Given the description of an element on the screen output the (x, y) to click on. 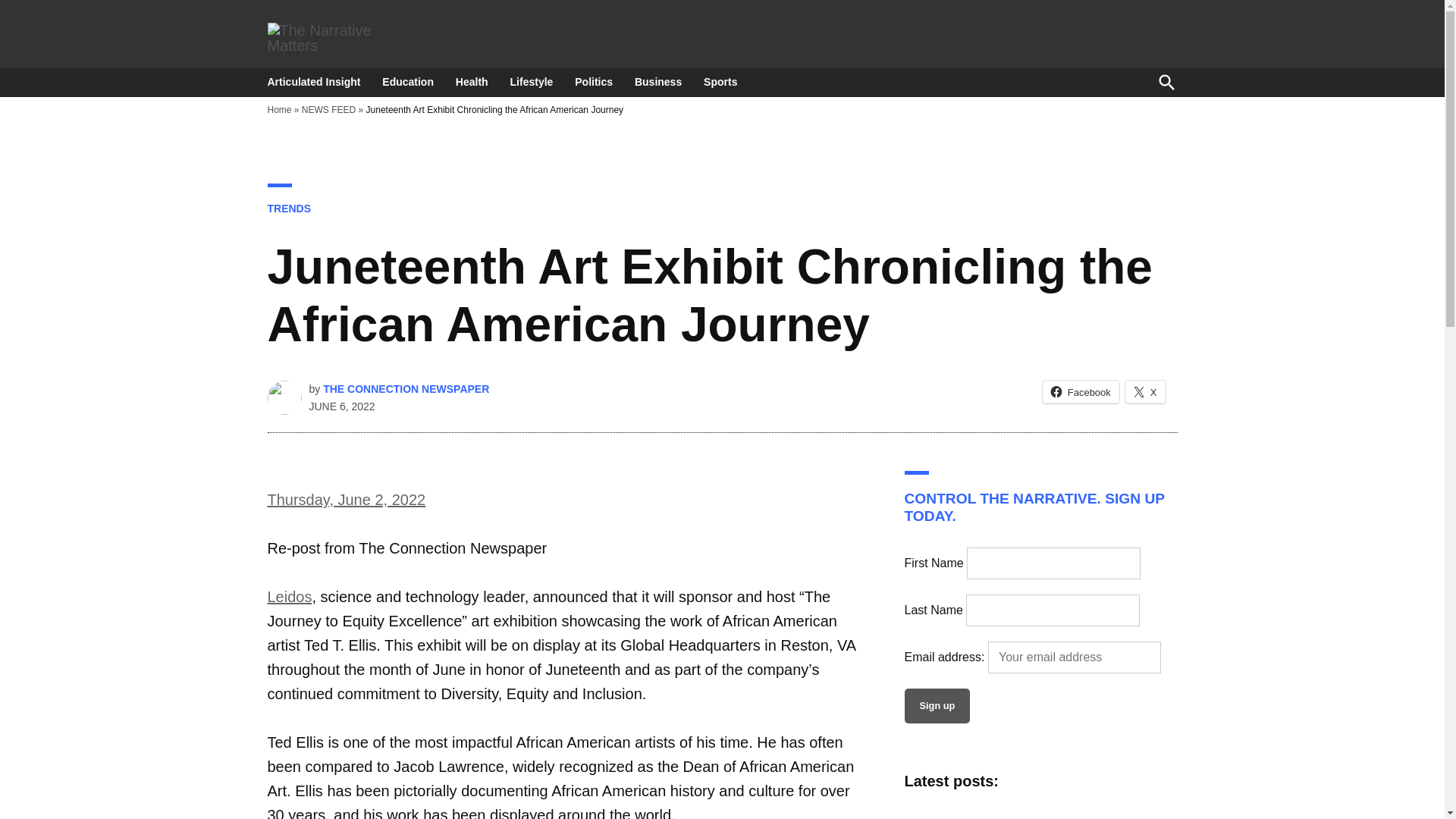
Sports (719, 81)
Leidos (288, 596)
Business (657, 81)
Click to share on Facebook (1080, 391)
Politics (593, 81)
Home (278, 109)
NEWS FEED (328, 109)
Lifestyle (531, 81)
X (1145, 391)
Sign up (936, 705)
Articulated Insight (317, 81)
Health (472, 81)
TRENDS (288, 208)
Click to share on X (1145, 391)
Thursday, June 2, 2022 (345, 499)
